Given the description of an element on the screen output the (x, y) to click on. 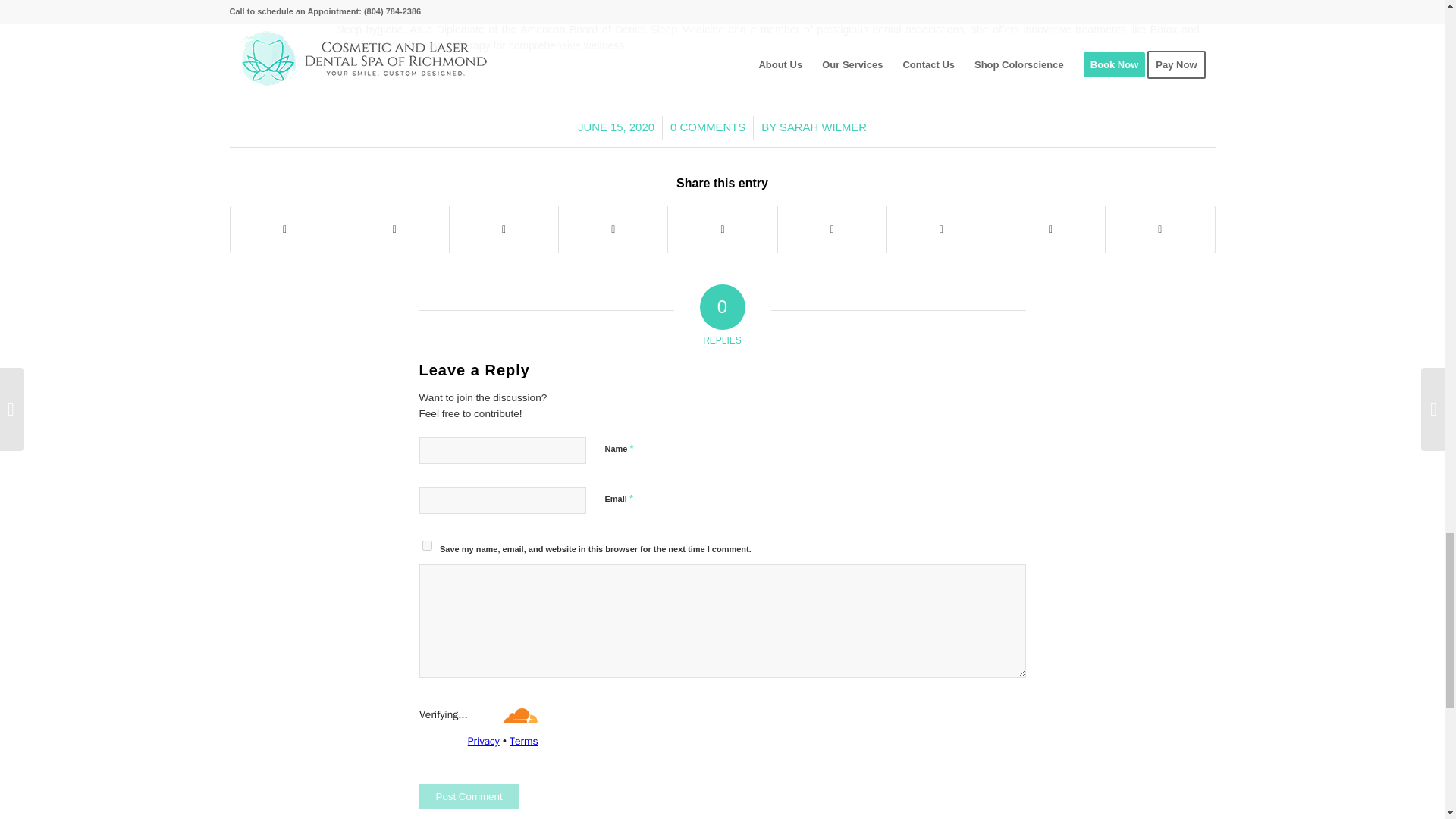
yes (426, 545)
Post Comment (468, 796)
Posts by Sarah Wilmer (822, 127)
